Given the description of an element on the screen output the (x, y) to click on. 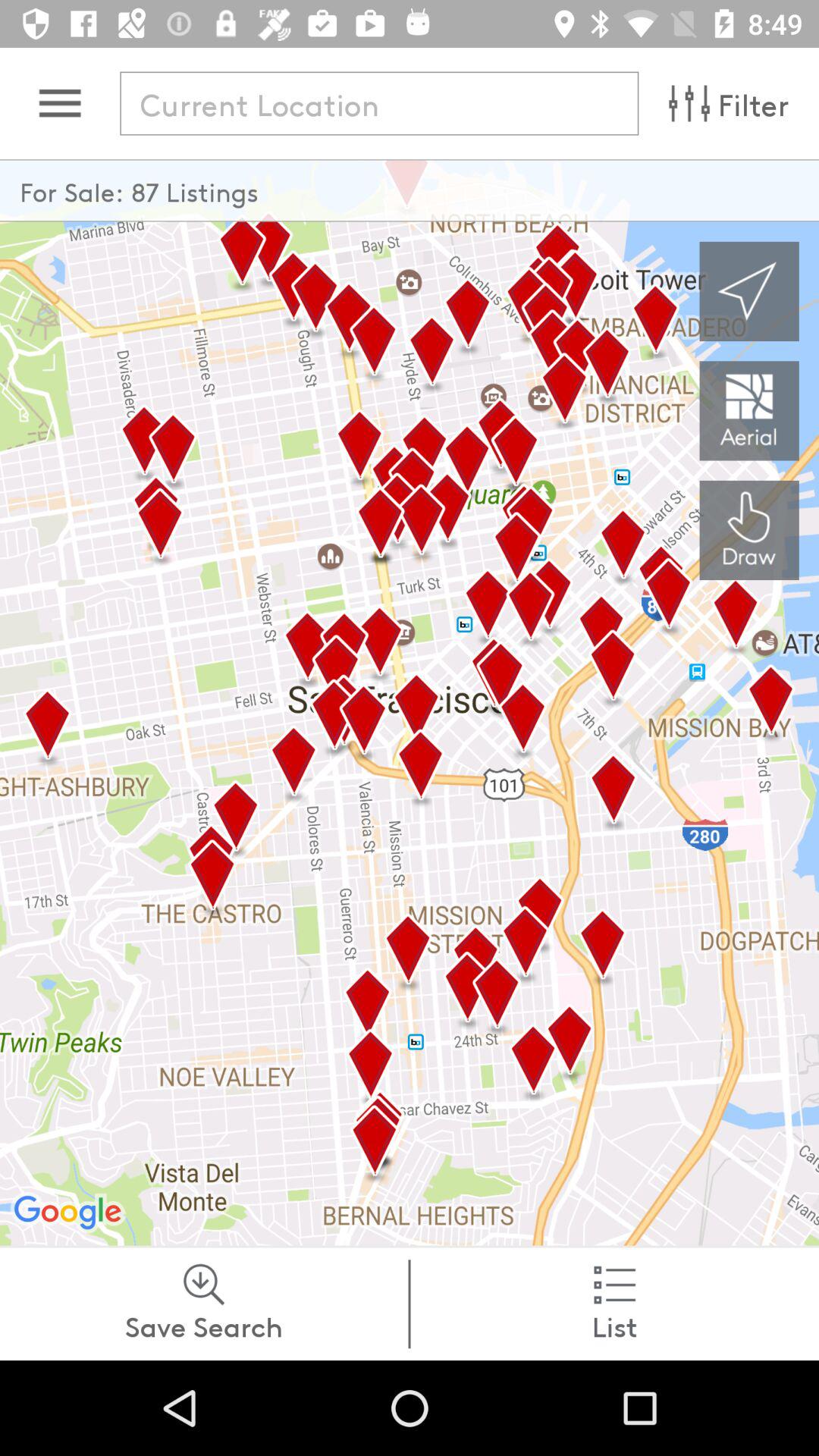
your options to use (59, 103)
